Given the description of an element on the screen output the (x, y) to click on. 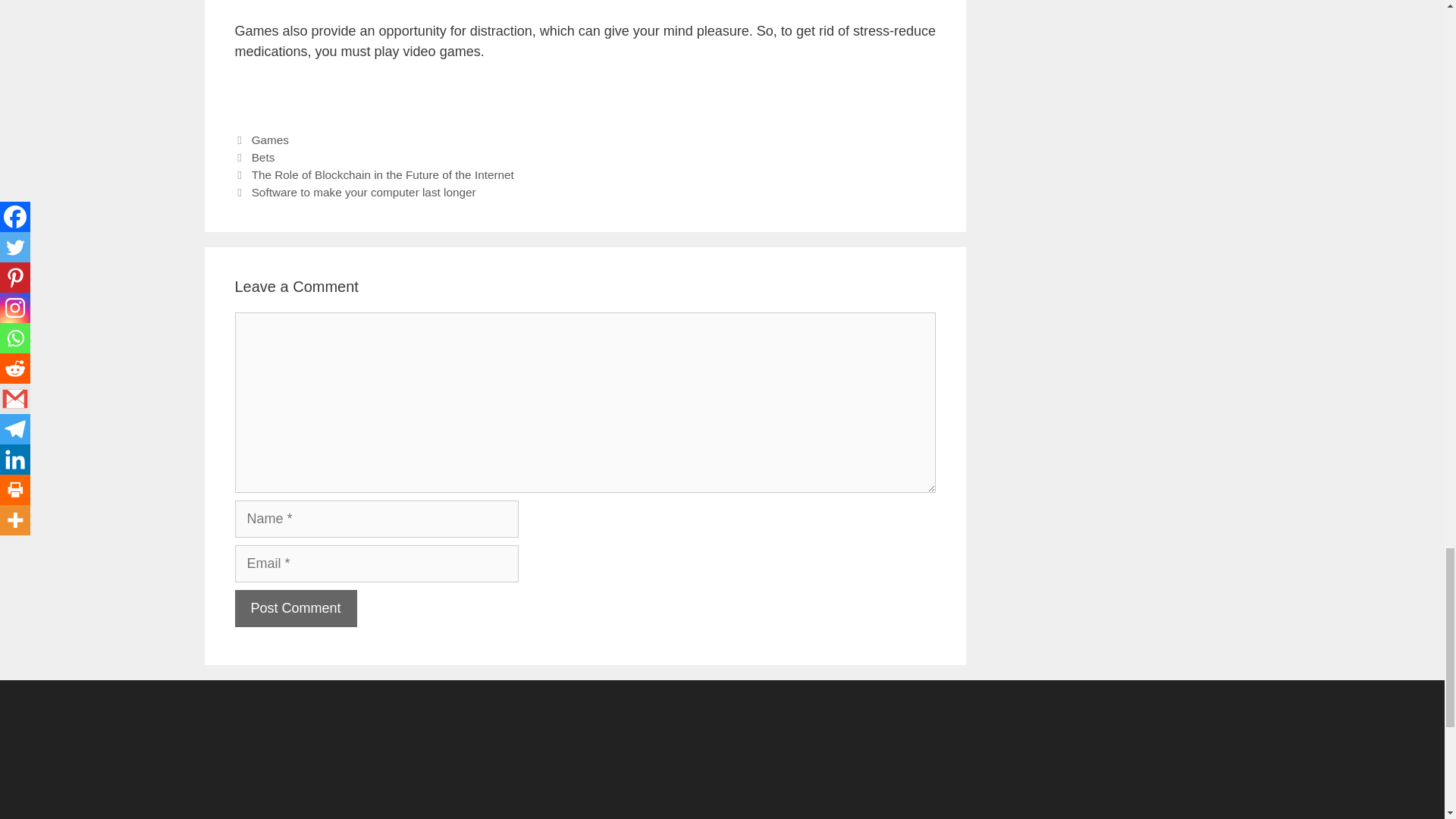
Post Comment (295, 608)
Games (269, 139)
Bets (263, 156)
Software to make your computer last longer (363, 192)
The Role of Blockchain in the Future of the Internet (382, 174)
